Given the description of an element on the screen output the (x, y) to click on. 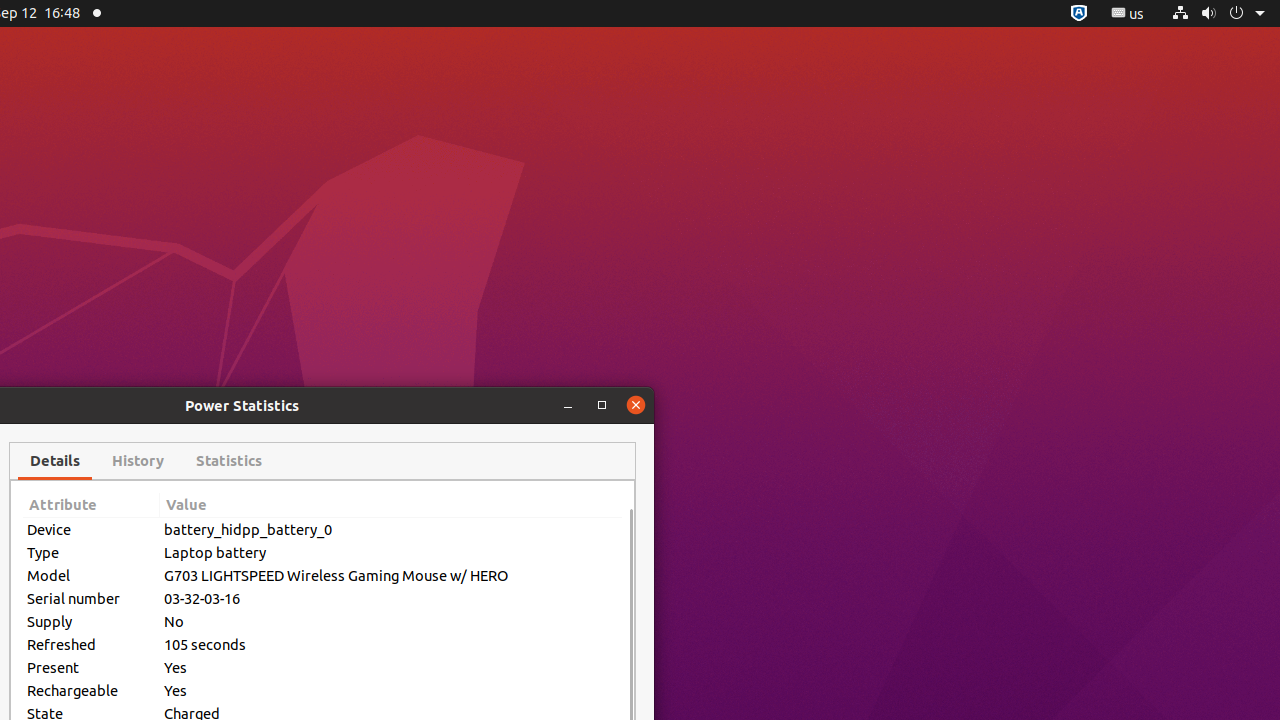
Yes Element type: table-cell (391, 667)
Value Element type: table-column-header (391, 505)
Refreshed Element type: table-cell (91, 644)
Serial number Element type: table-cell (91, 598)
Model Element type: table-cell (91, 575)
